Given the description of an element on the screen output the (x, y) to click on. 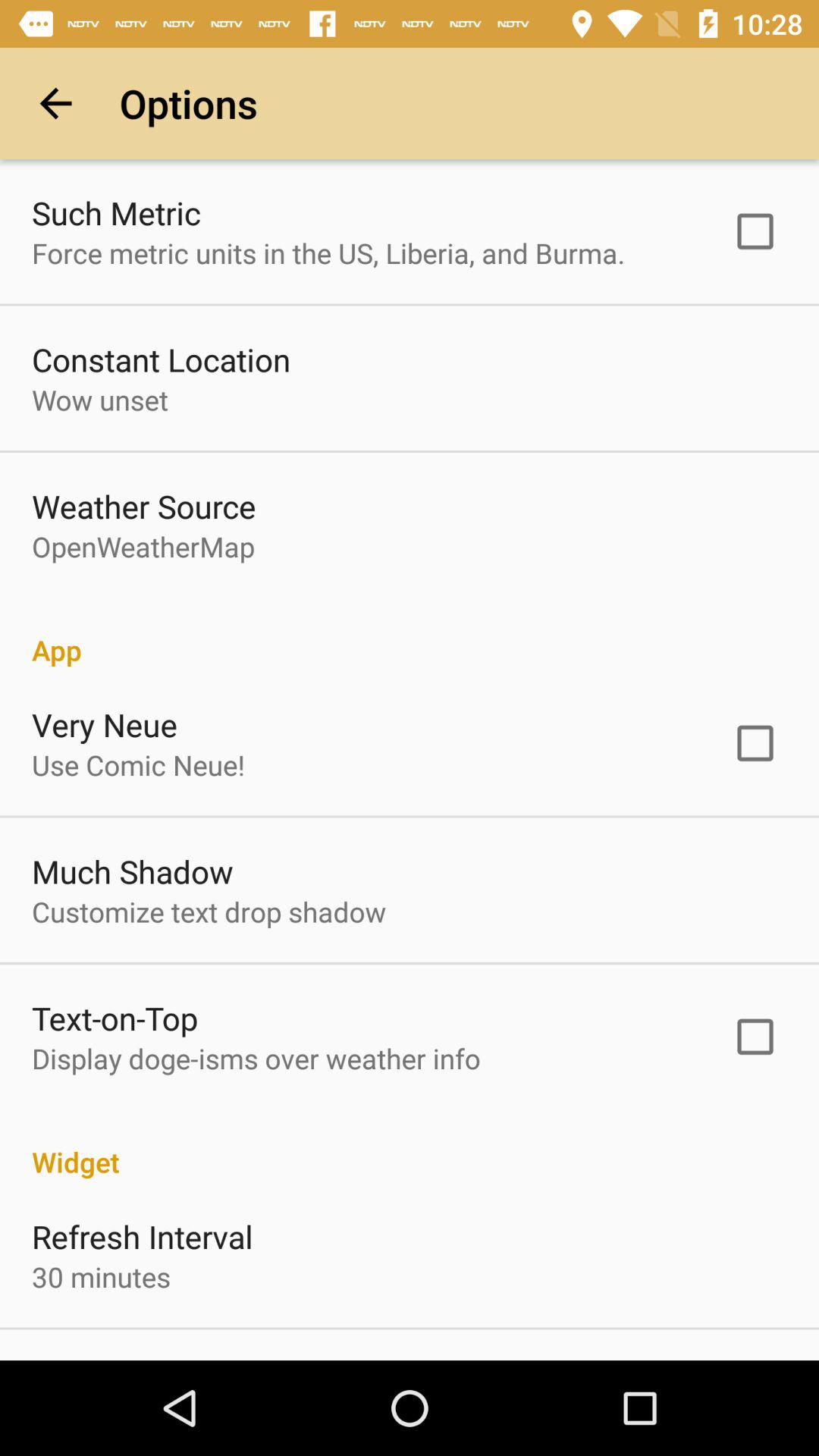
click app below the customize text drop (114, 1017)
